Given the description of an element on the screen output the (x, y) to click on. 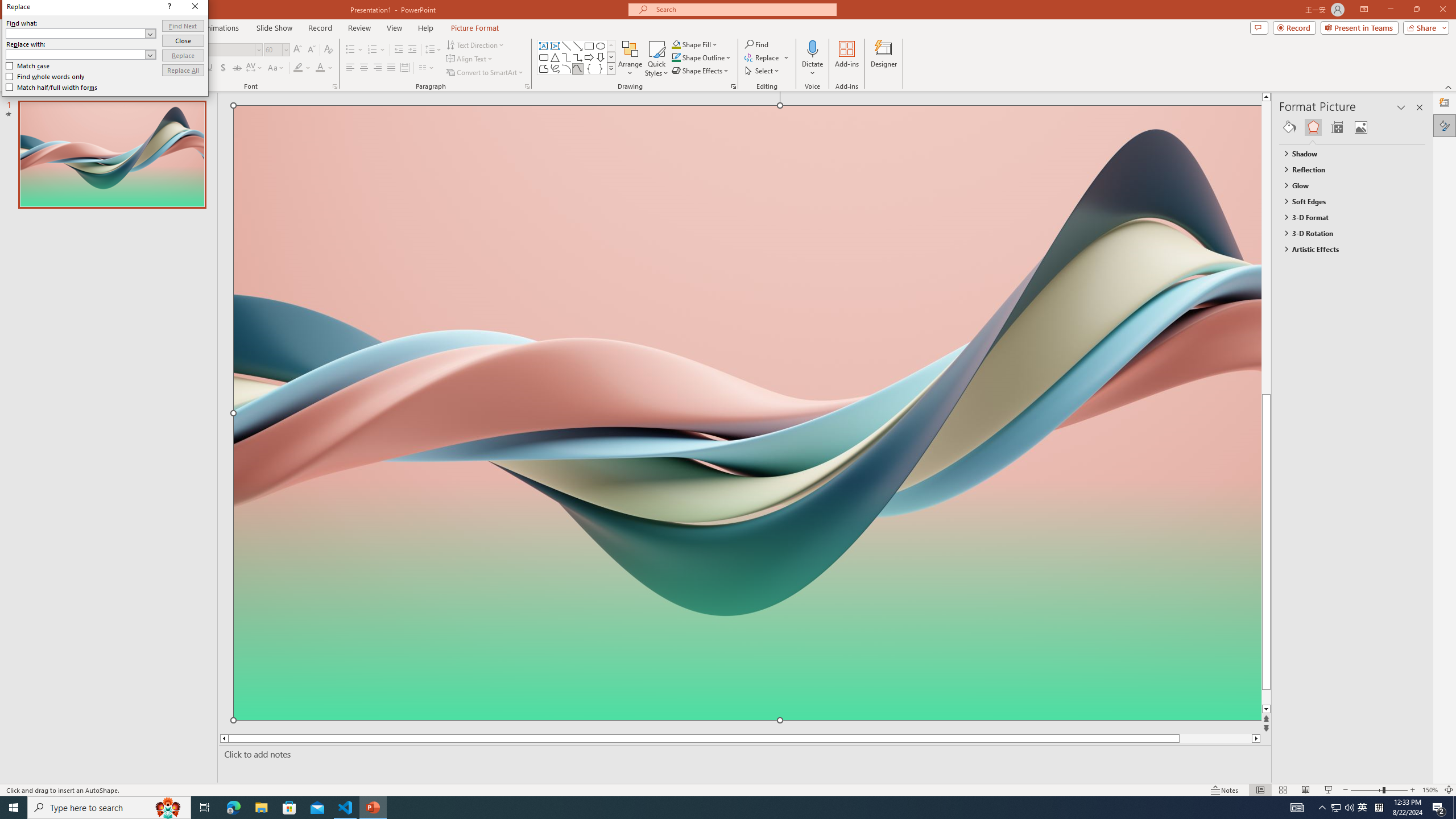
Artistic Effects (1347, 248)
